Given the description of an element on the screen output the (x, y) to click on. 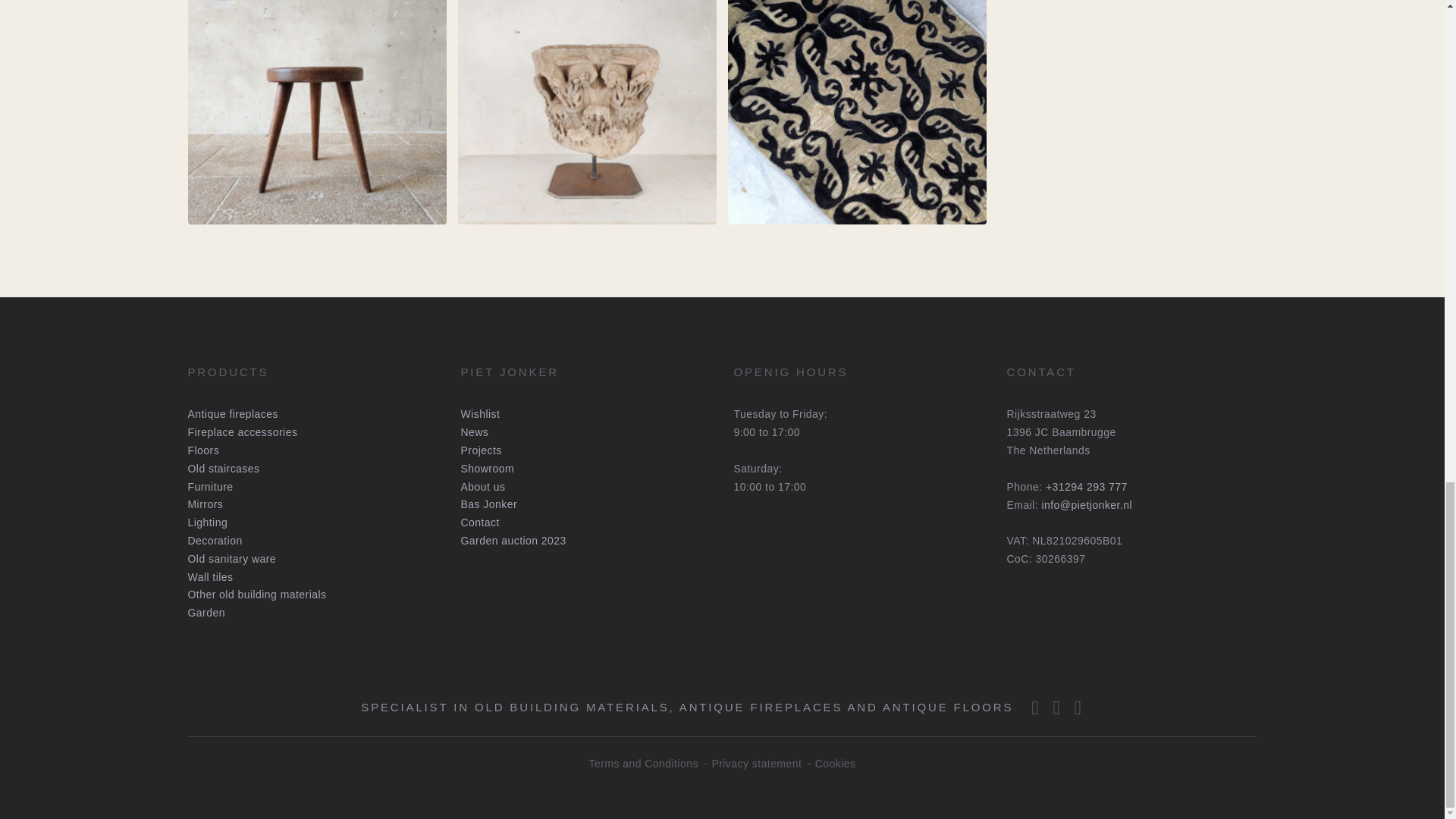
Table runner of antique Portuguese gold brocade (857, 93)
Ancient marble capital (587, 93)
